Given the description of an element on the screen output the (x, y) to click on. 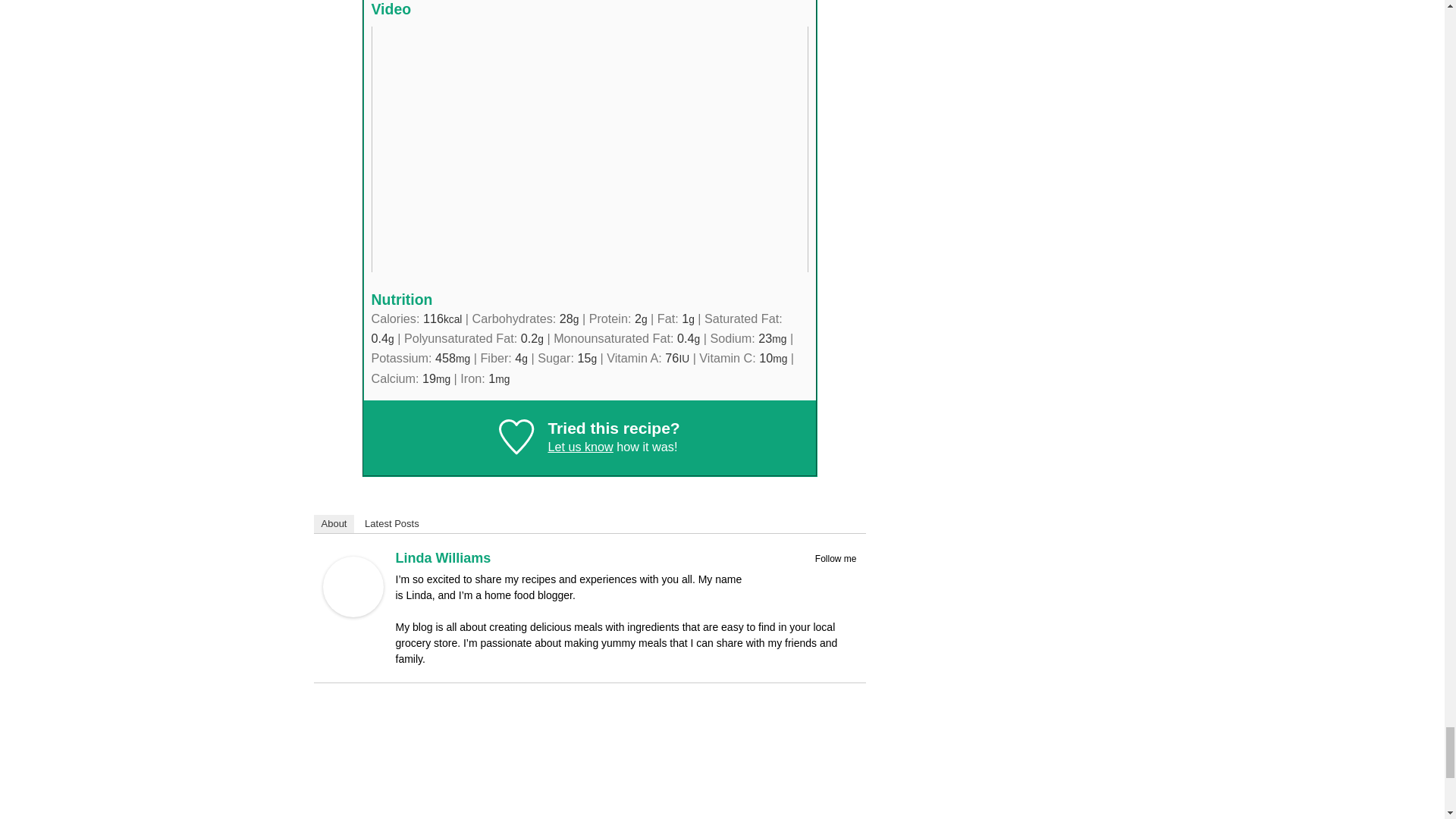
Facebook (806, 576)
Linda Williams (353, 612)
YouTube (846, 576)
Pinterest (825, 576)
